Given the description of an element on the screen output the (x, y) to click on. 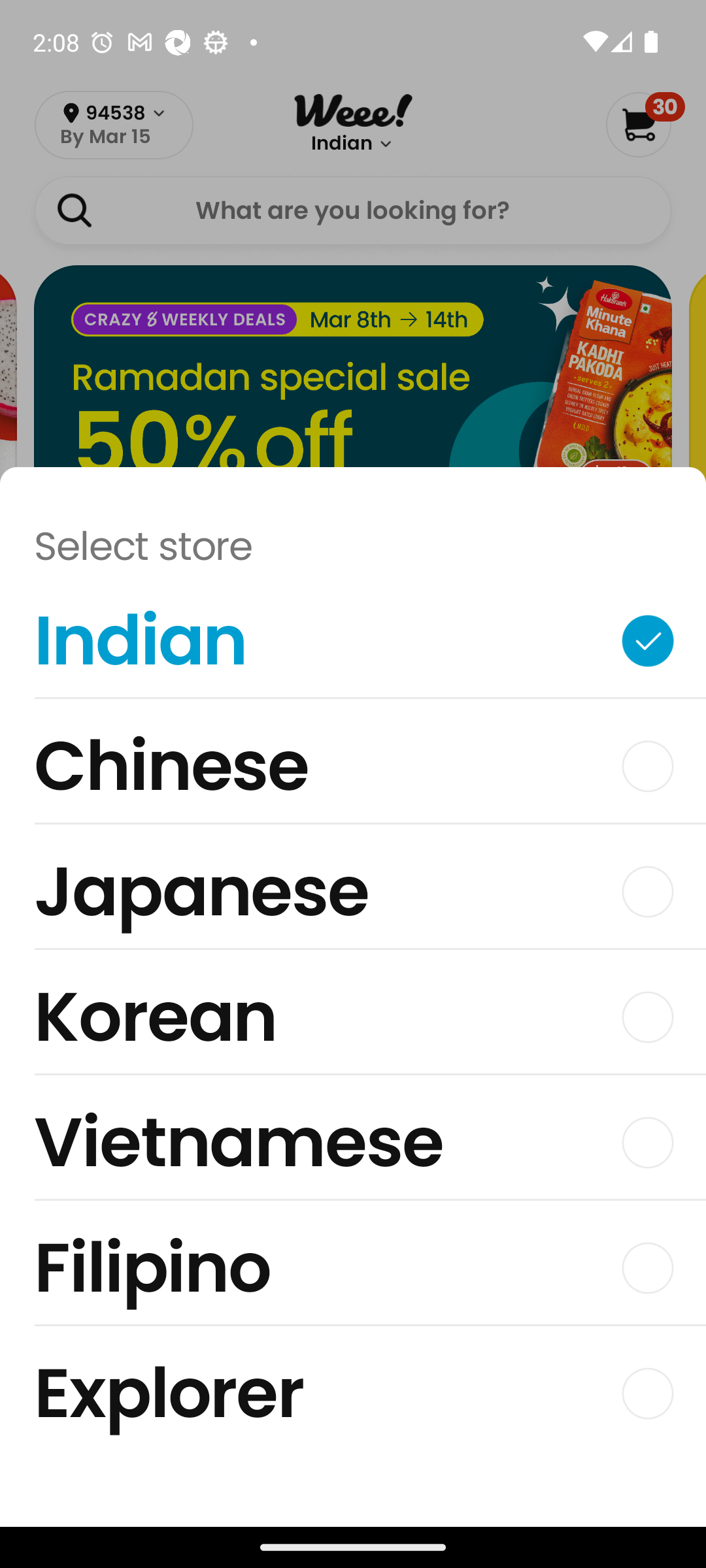
Indian (353, 645)
Chinese (353, 771)
Japanese (353, 896)
Korean (353, 1022)
Vietnamese (353, 1147)
Filipino (353, 1272)
Explorer (353, 1392)
